Given the description of an element on the screen output the (x, y) to click on. 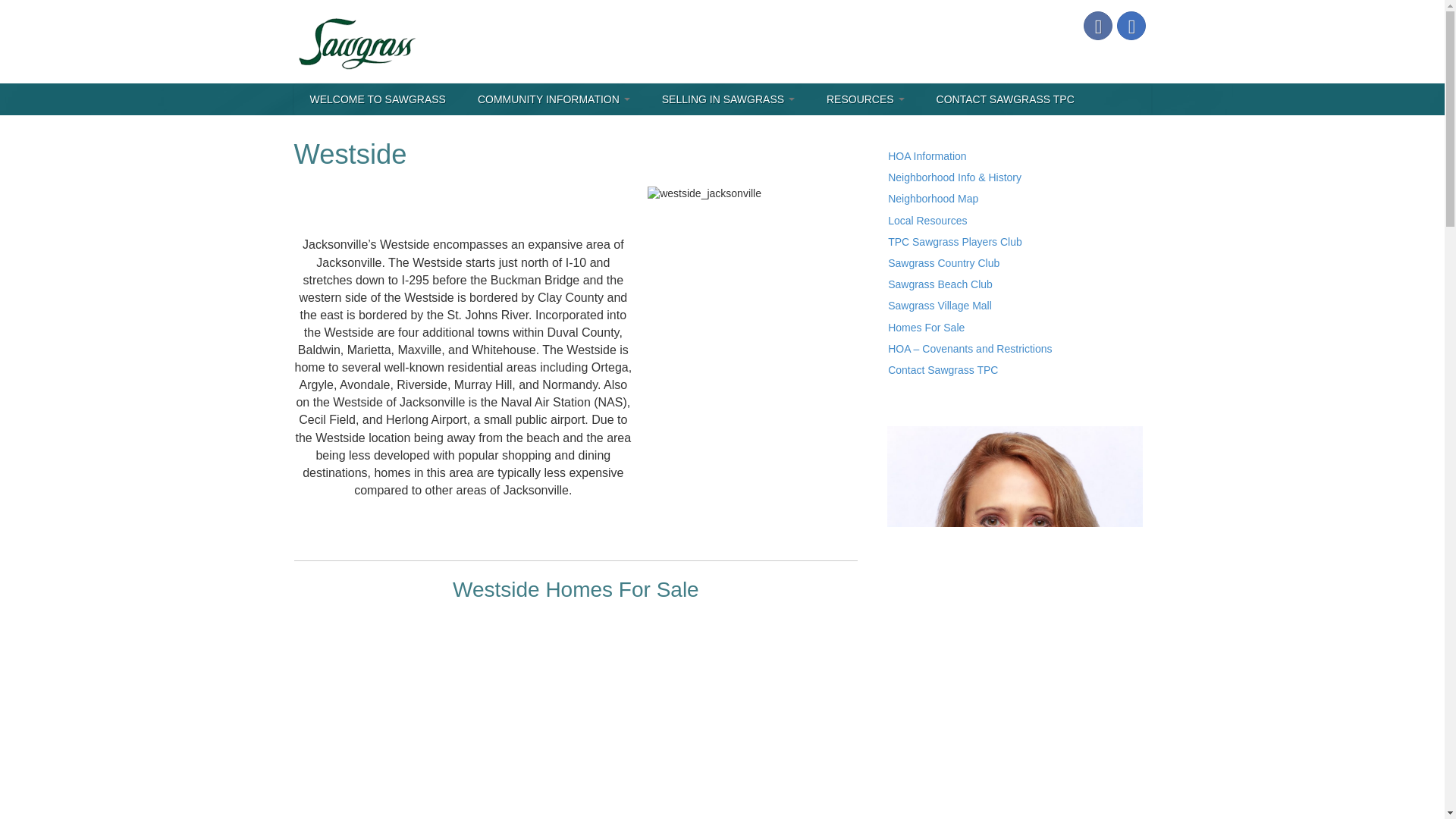
Sawgrass Country Club (943, 263)
WELCOME TO SAWGRASS (377, 99)
RESOURCES (865, 99)
TPC Sawgrass Players Club (955, 241)
Local Resources (927, 220)
Sawgrass Community in Ponte Vedra, Florida (357, 40)
COMMUNITY INFORMATION (554, 99)
Contact Sawgrass TPC (942, 369)
Neighborhood Map (933, 198)
Sawgrass Village Mall (939, 305)
